Given the description of an element on the screen output the (x, y) to click on. 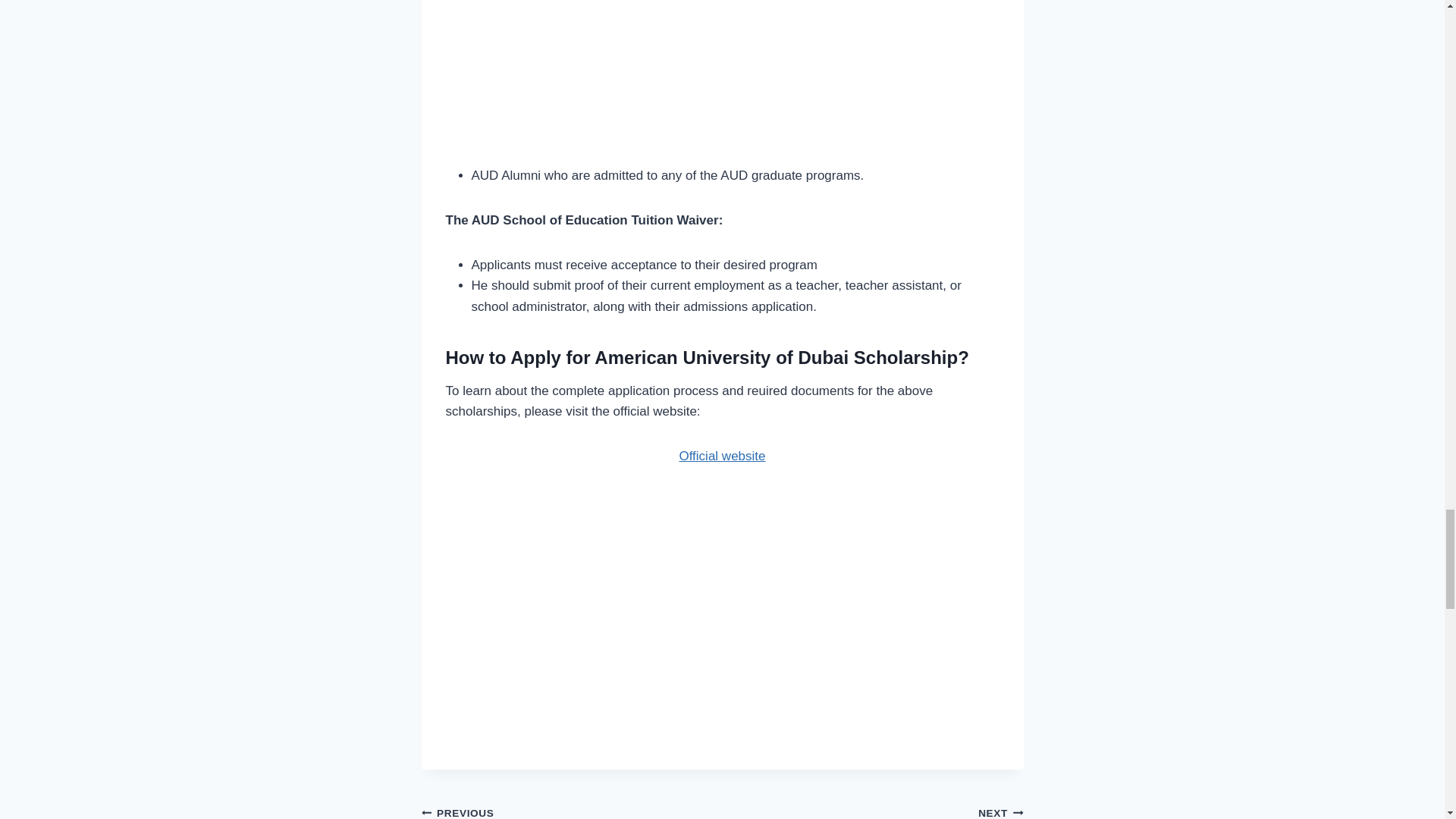
Official website (721, 455)
